Given the description of an element on the screen output the (x, y) to click on. 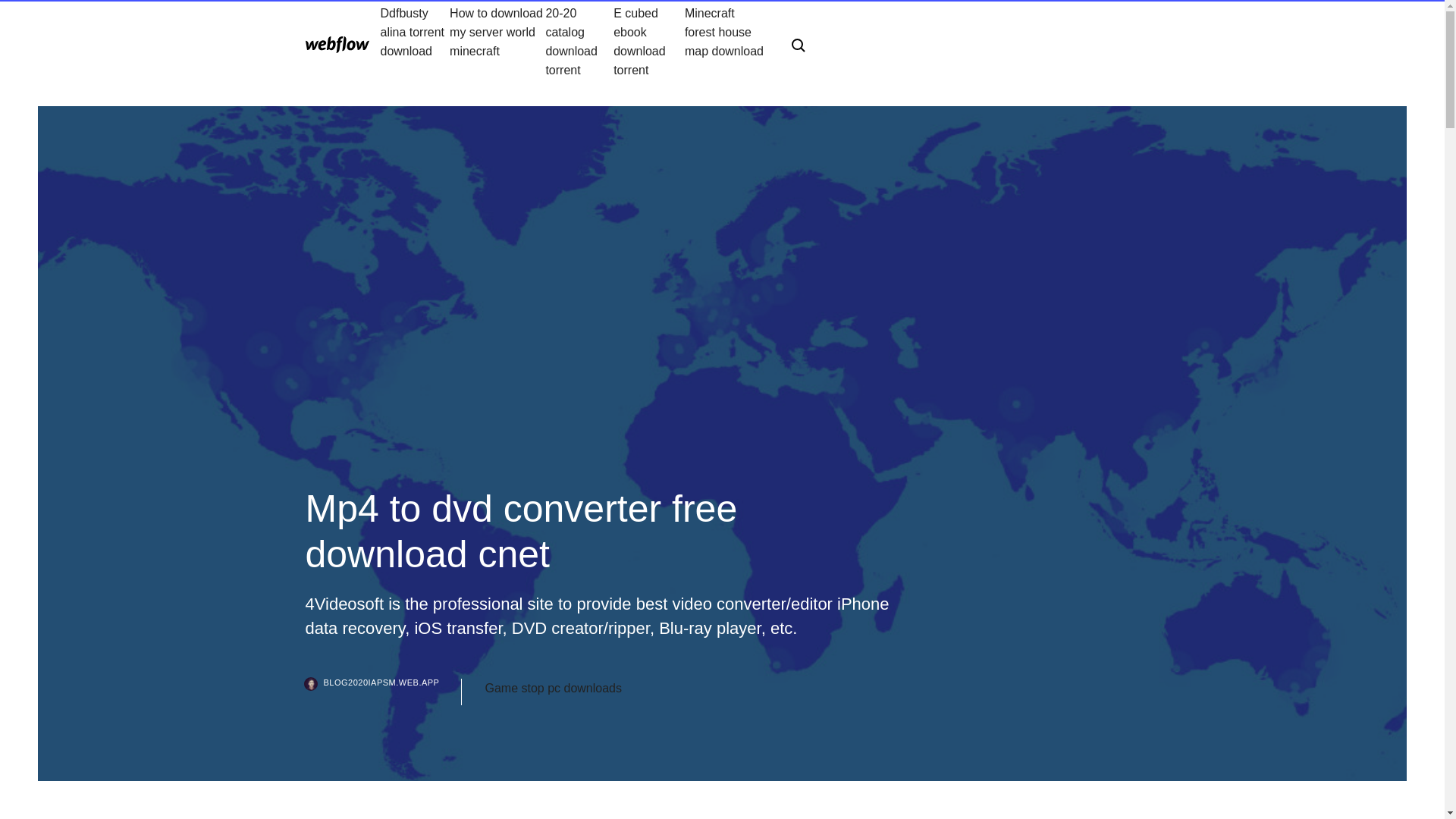
Ddfbusty alina torrent download (414, 41)
Game stop pc downloads (552, 687)
BLOG2020IAPSM.WEB.APP (382, 691)
Minecraft forest house map download (725, 41)
How to download my server world minecraft (496, 41)
20-20 catalog download torrent (578, 41)
E cubed ebook download torrent (648, 41)
